Given the description of an element on the screen output the (x, y) to click on. 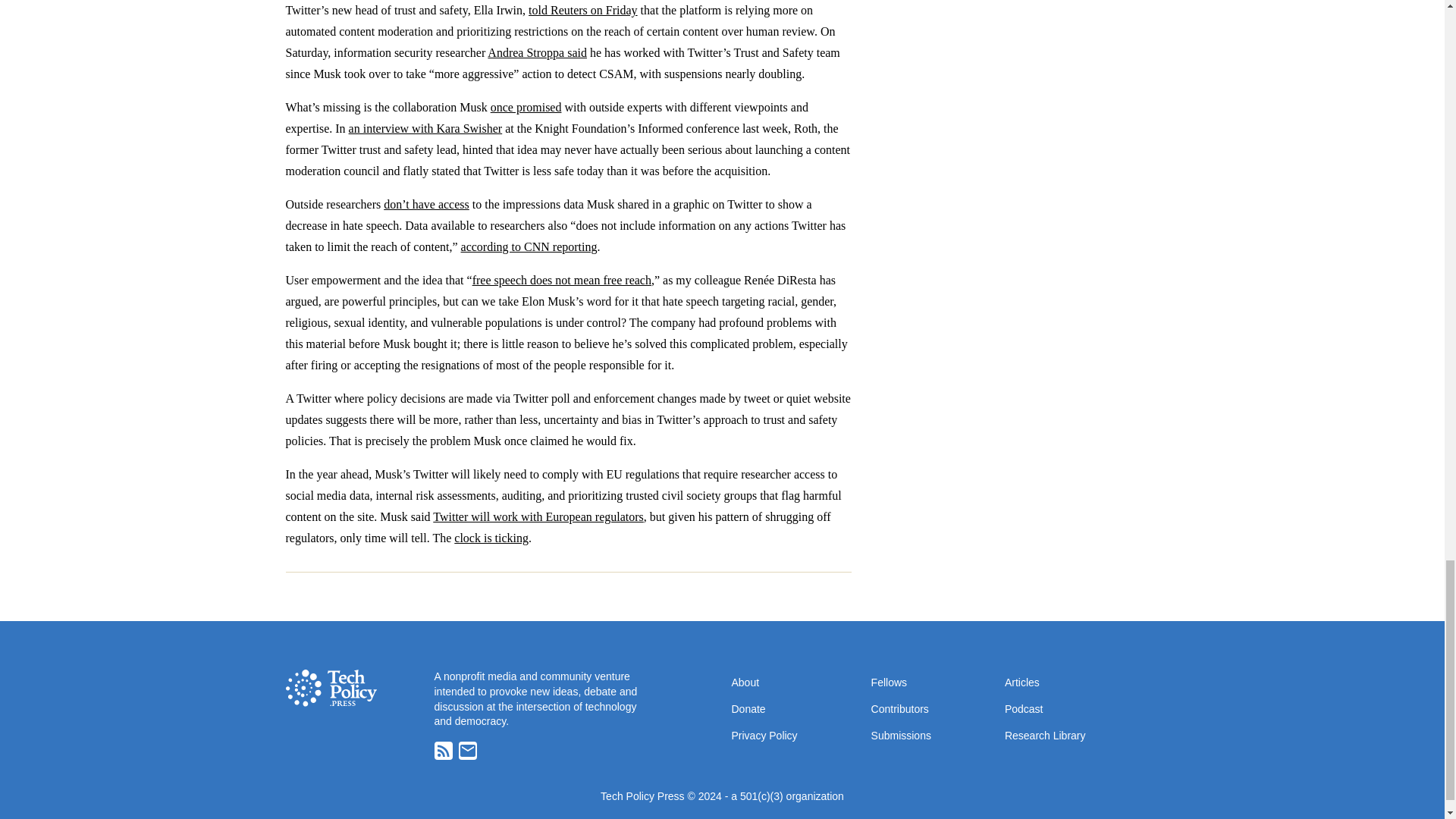
an interview with Kara Swisher (425, 128)
told Reuters on Friday (582, 10)
once promised (526, 106)
Andrea Stroppa said (536, 51)
Twitter will work with European regulators (537, 516)
according to CNN reporting (528, 246)
free speech does not mean free reach (560, 279)
